Given the description of an element on the screen output the (x, y) to click on. 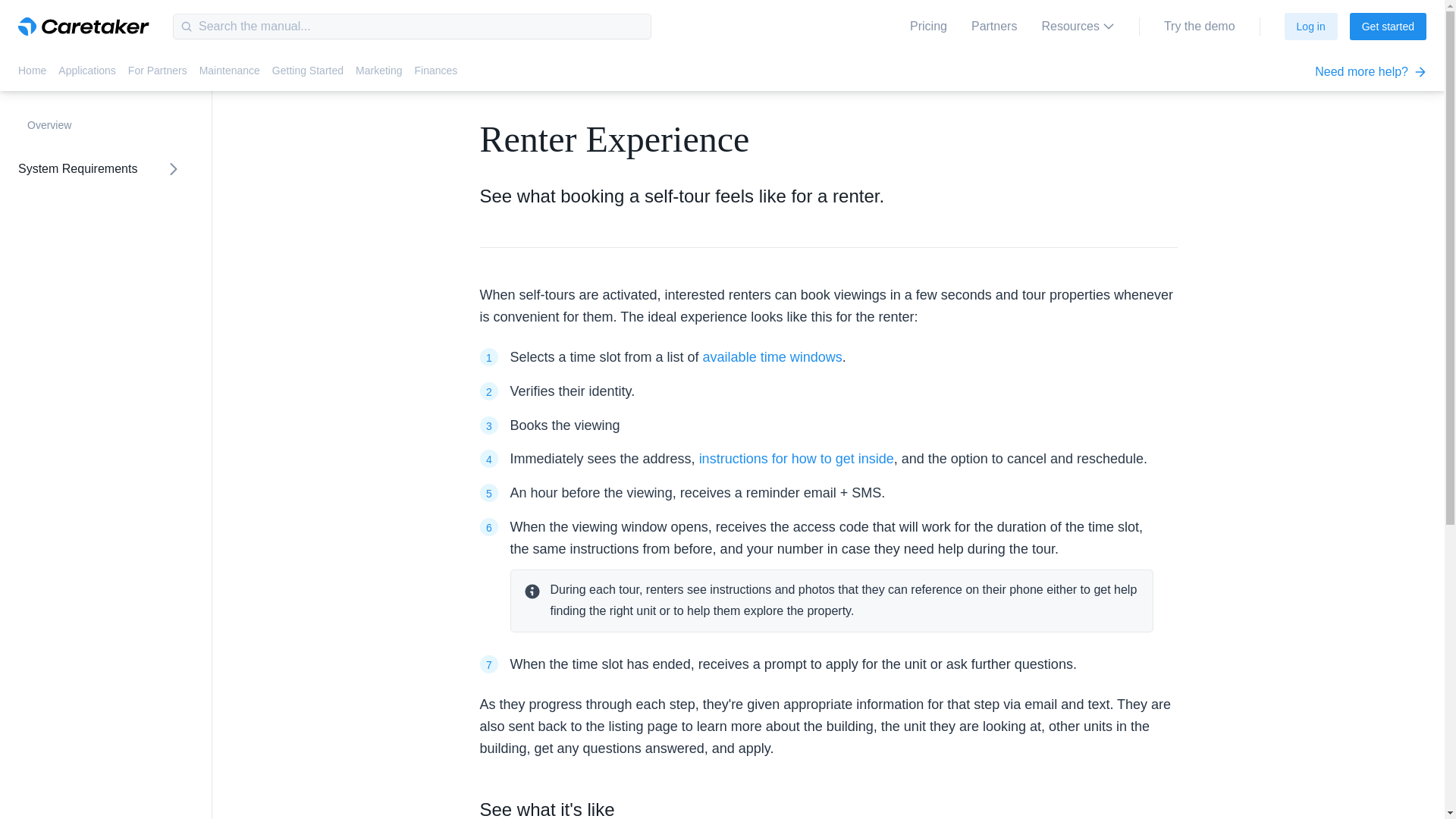
Pricing (928, 26)
Finances (435, 77)
Get started (1387, 26)
Getting Started (307, 77)
Resources (1077, 26)
Maintenance (229, 77)
Home (31, 77)
Log in (1311, 26)
available time windows (773, 356)
Try the demo (1198, 26)
Need more help? (1370, 71)
For Partners (157, 77)
Overview (98, 124)
Applications (87, 77)
Marketing (378, 77)
